Given the description of an element on the screen output the (x, y) to click on. 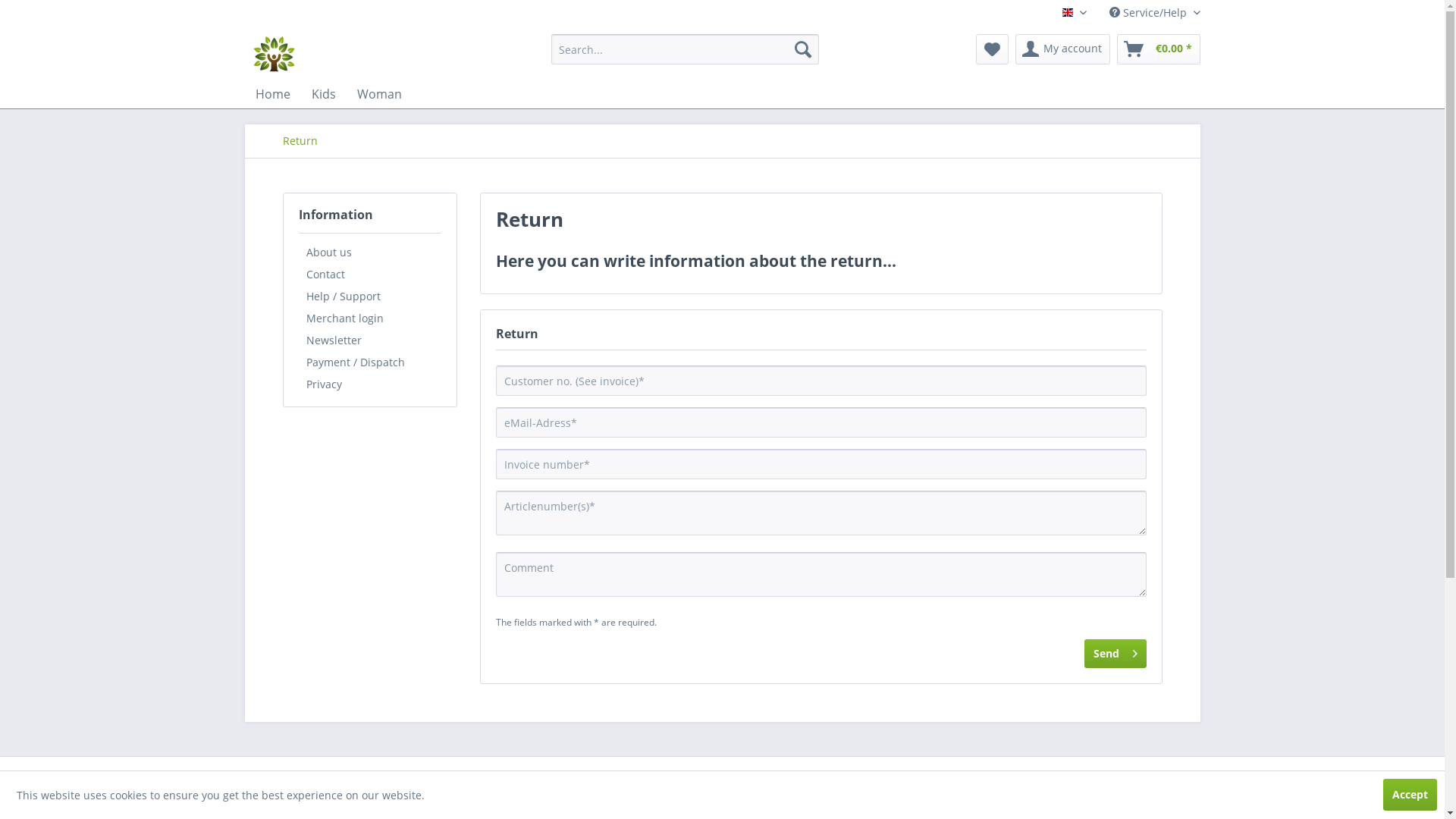
Privacy Element type: text (369, 384)
Woman Element type: text (378, 93)
Wish list Element type: hover (991, 49)
Home Element type: text (272, 93)
My account Element type: text (1061, 49)
Kids Element type: text (322, 93)
Send Element type: text (1115, 653)
Help / Support Element type: text (369, 296)
Contact Element type: text (369, 274)
Bachremedy English - Switch to homepage Element type: hover (273, 53)
Newsletter Element type: text (369, 340)
Accept Element type: text (1410, 794)
Payment / Dispatch Element type: text (369, 362)
Return Element type: text (299, 140)
About us Element type: text (369, 252)
Merchant login Element type: text (369, 318)
